Given the description of an element on the screen output the (x, y) to click on. 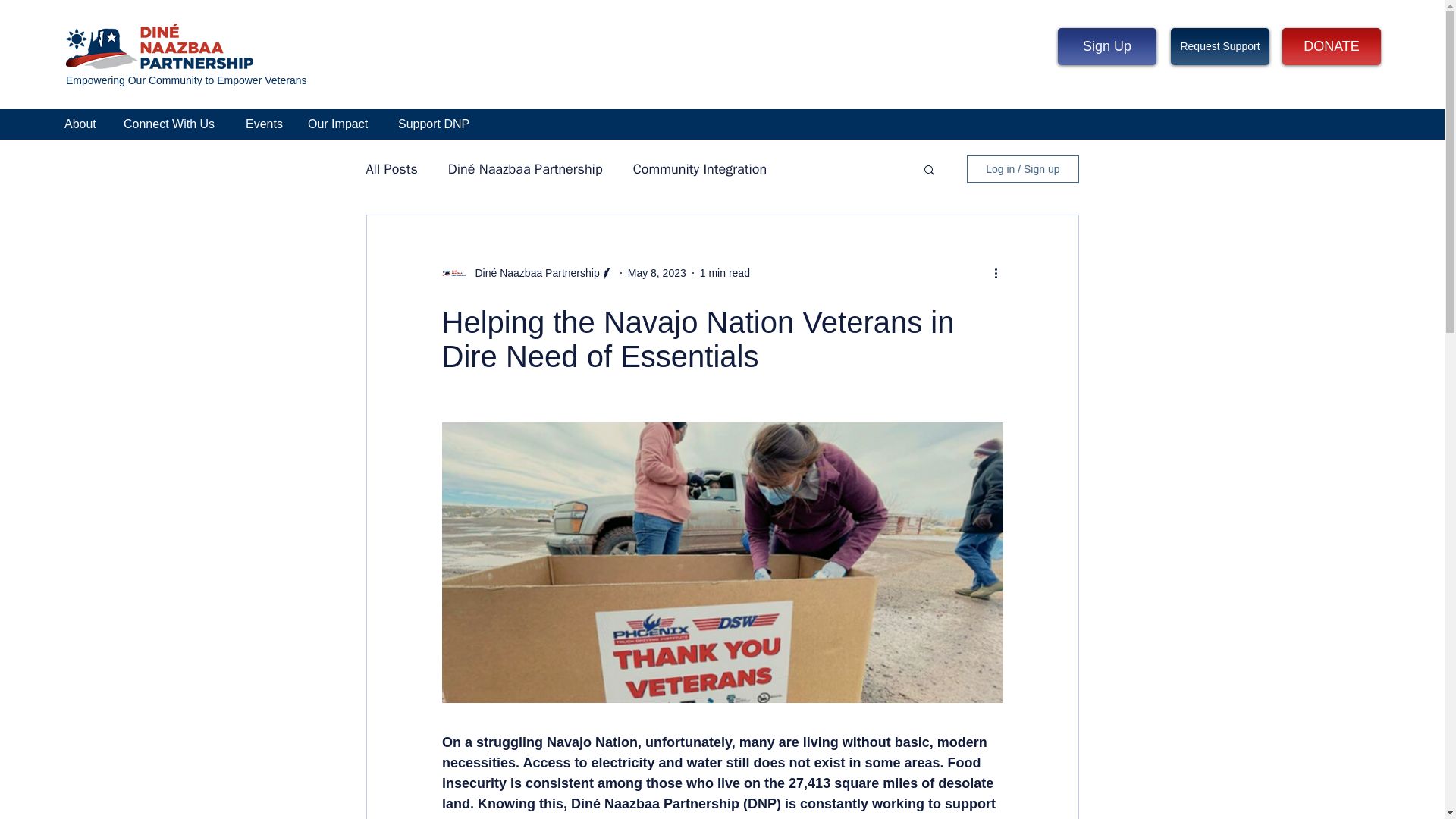
Events (265, 124)
Community Integration (700, 168)
DONATE (1331, 46)
Our Impact (342, 124)
Request Support (1219, 46)
About (82, 124)
Sign Up (1107, 46)
Support DNP (435, 124)
1 min read (724, 272)
May 8, 2023 (656, 272)
